Given the description of an element on the screen output the (x, y) to click on. 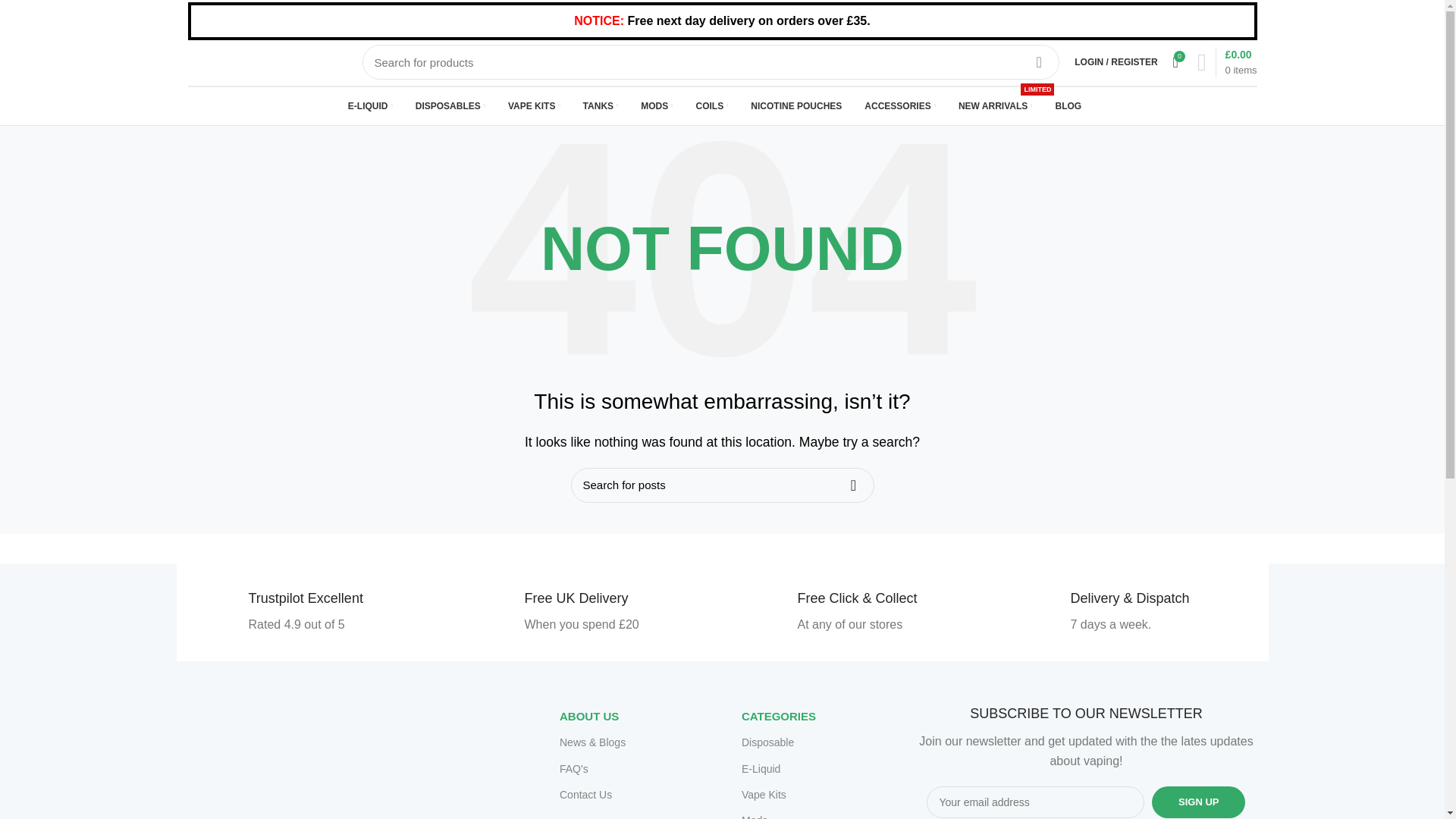
SEARCH (1039, 62)
Sign up (1197, 802)
Shopping cart (1227, 61)
Search for products (710, 62)
E-LIQUID (370, 105)
My account (1115, 61)
